Given the description of an element on the screen output the (x, y) to click on. 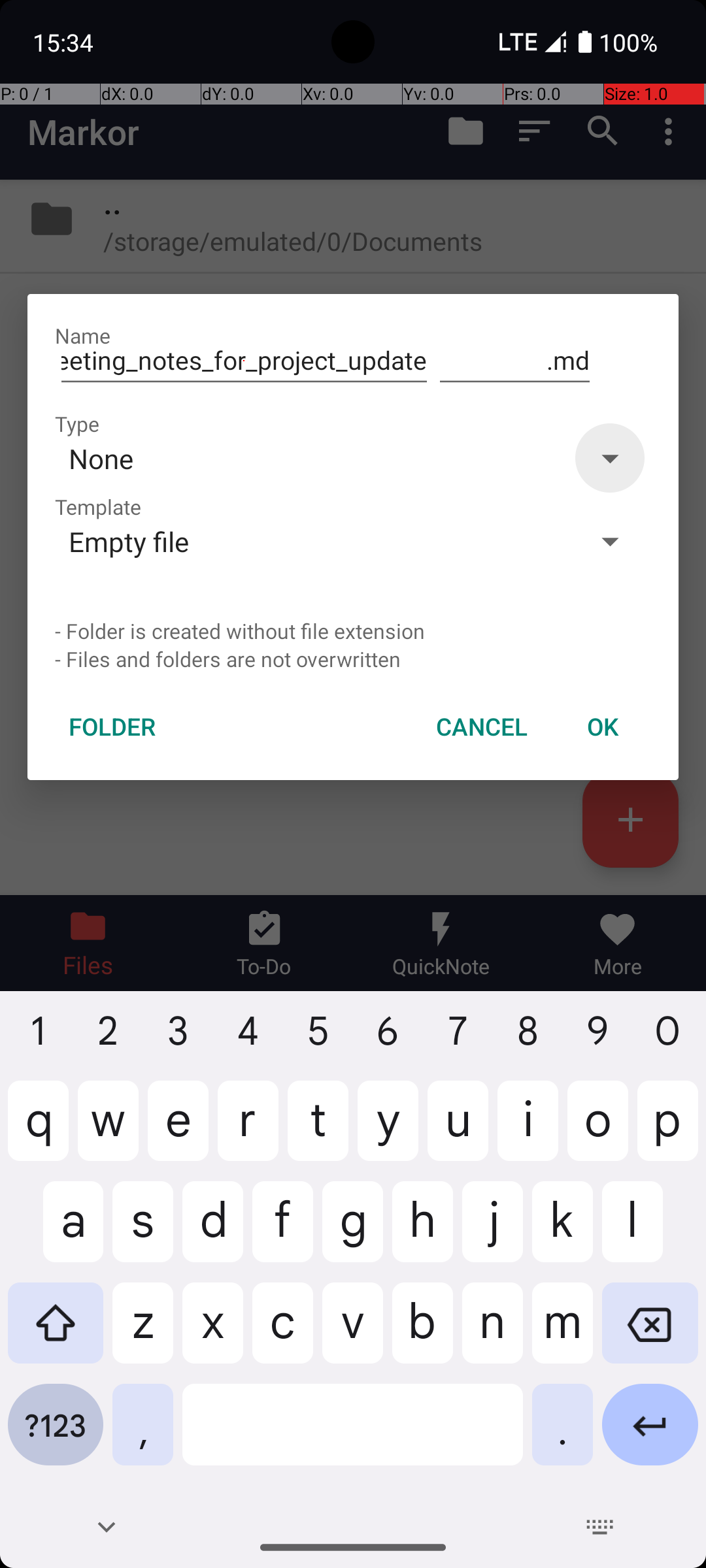
Meeting_notes_for_project_update Element type: android.widget.EditText (243, 360)
